Given the description of an element on the screen output the (x, y) to click on. 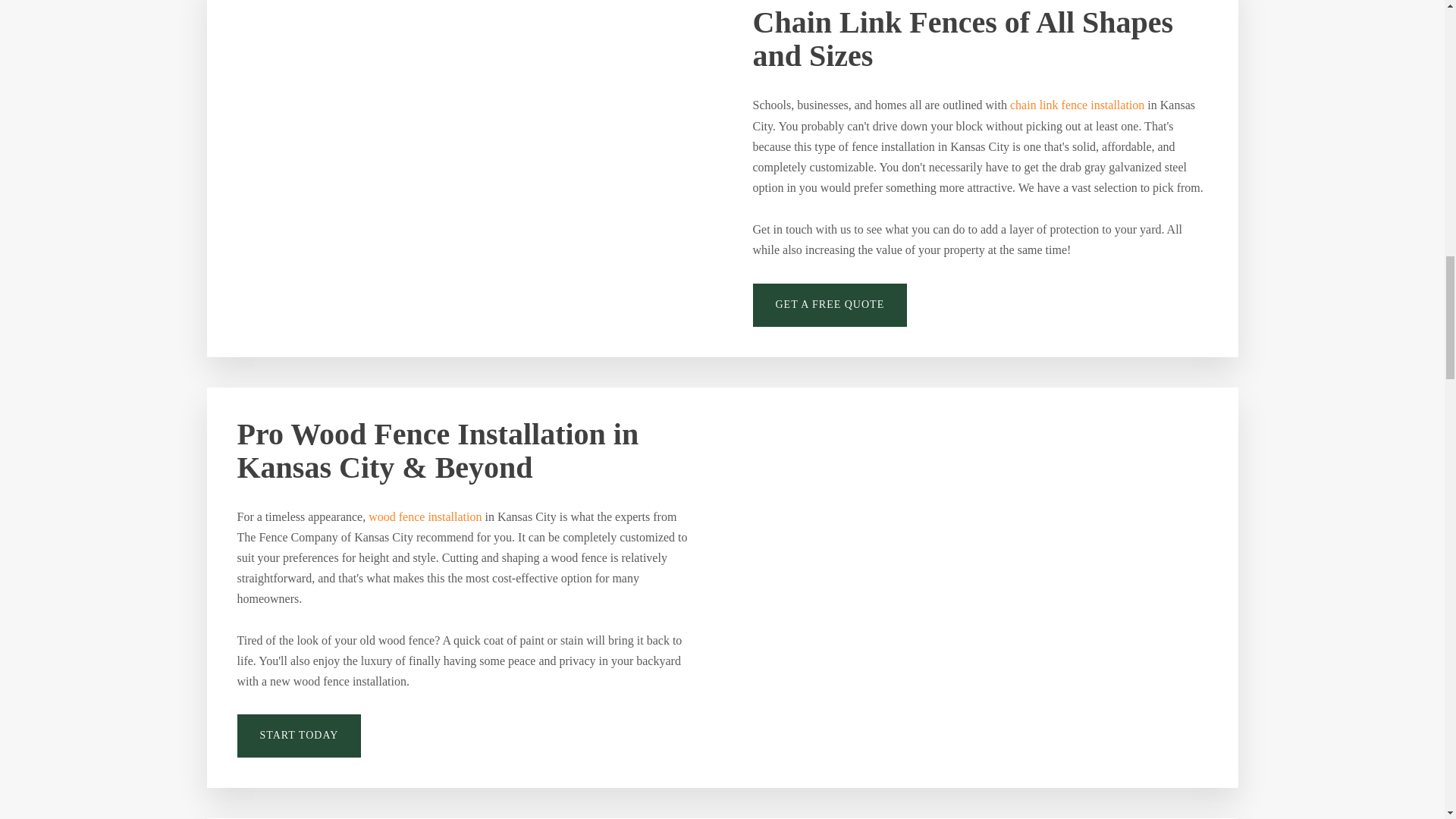
START TODAY (298, 735)
chain link fence installation (1077, 105)
GET A FREE QUOTE (829, 304)
wood fence installation (424, 516)
